Given the description of an element on the screen output the (x, y) to click on. 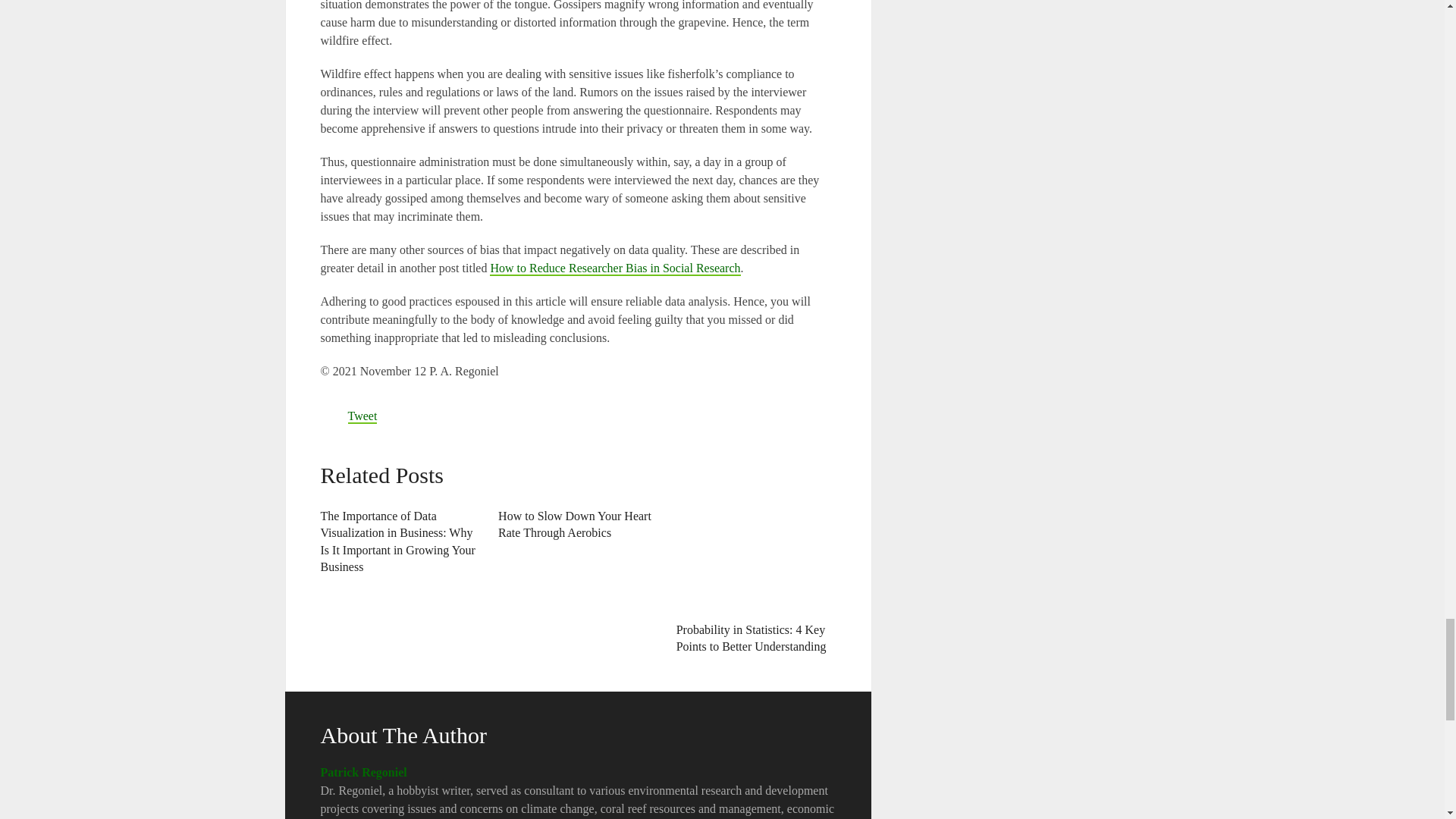
How to Slow Down Your Heart Rate Through Aerobics (573, 523)
